Given the description of an element on the screen output the (x, y) to click on. 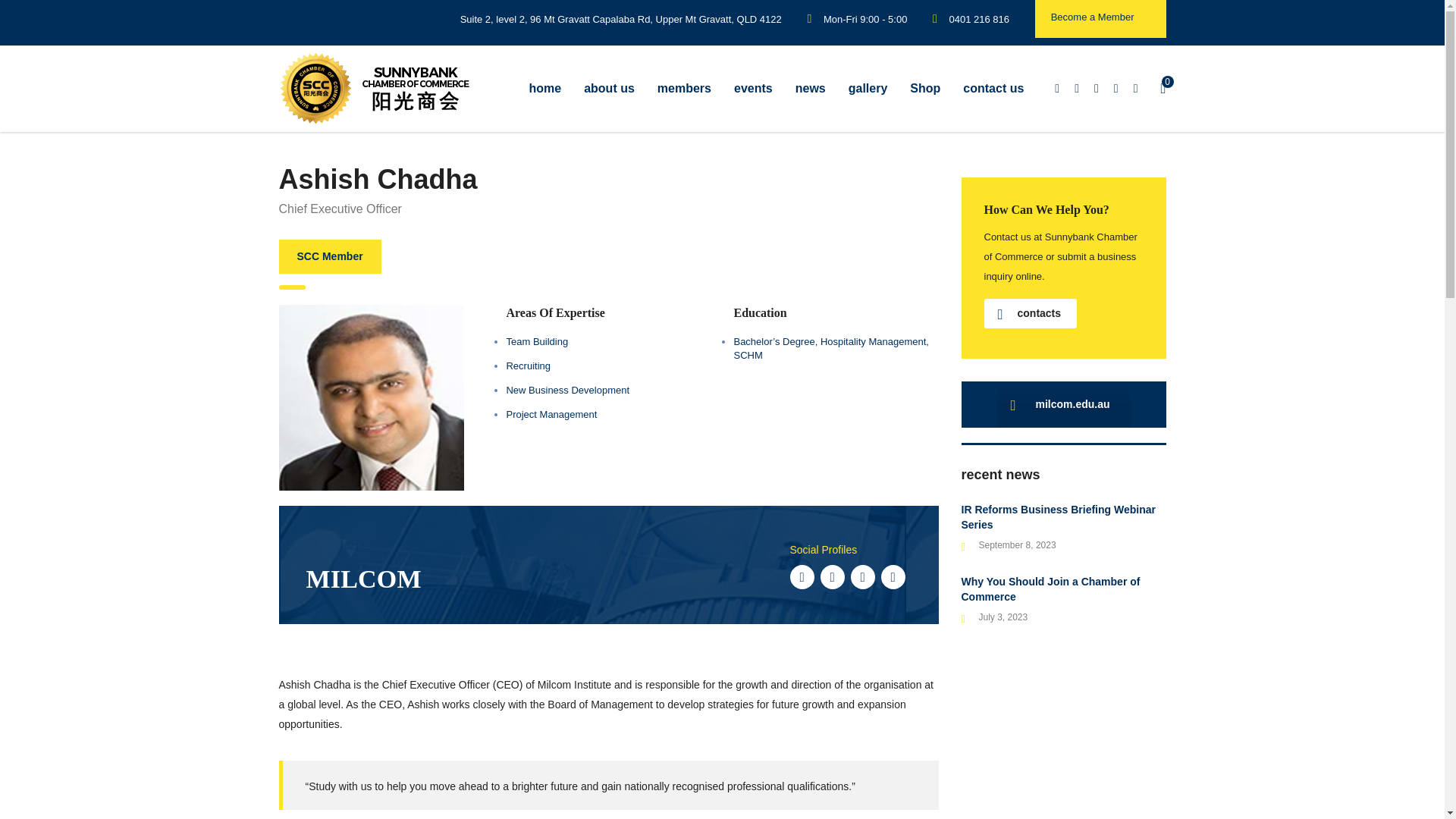
contact us (993, 88)
home (544, 88)
Shop (925, 88)
SCC Member (330, 256)
members (684, 88)
gallery (868, 88)
news (810, 88)
Ashish Chadha (371, 397)
events (753, 88)
about us (609, 88)
0401 216 816 (979, 19)
